Given the description of an element on the screen output the (x, y) to click on. 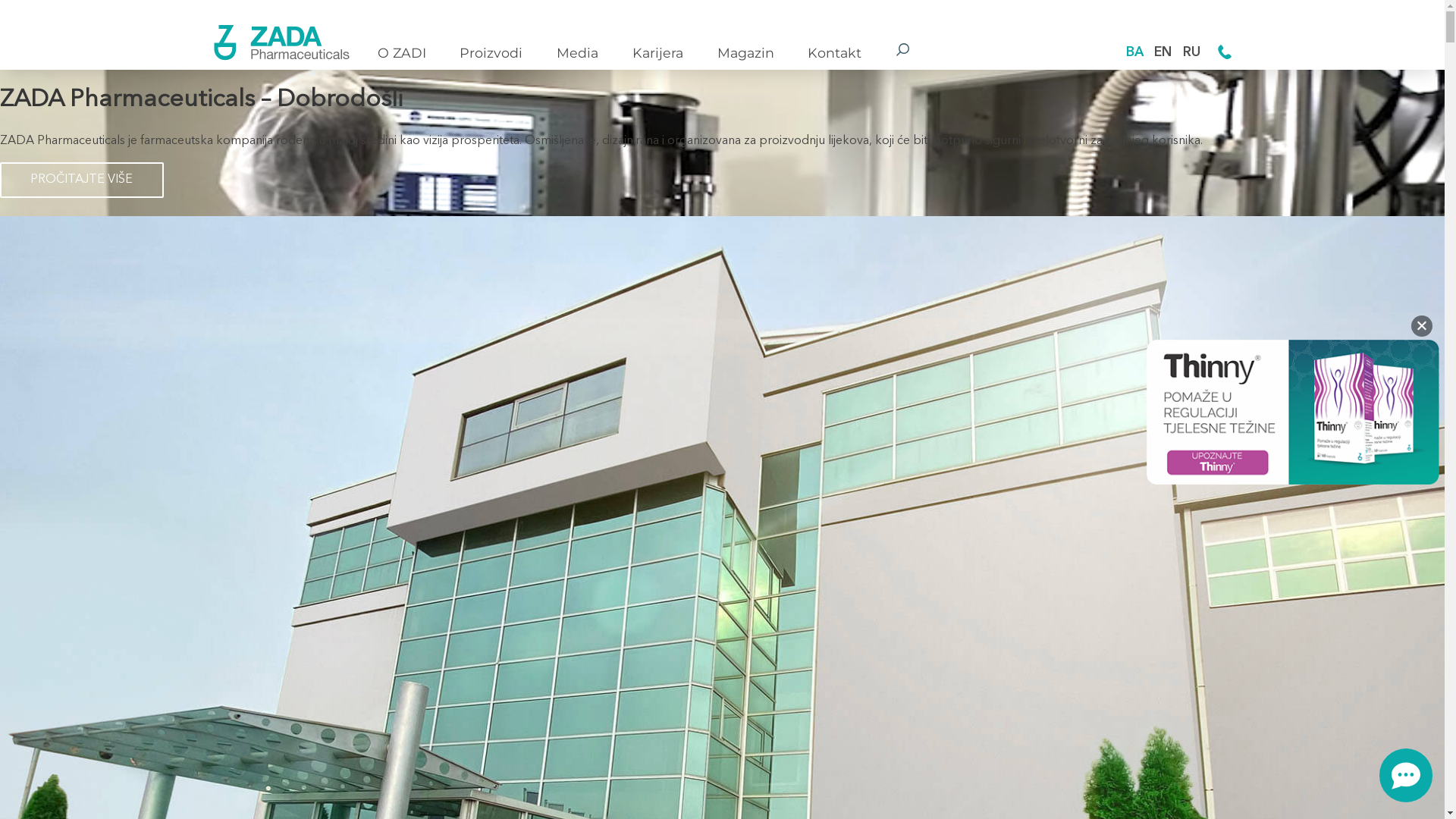
O ZADI Element type: text (401, 52)
Kontakt Element type: text (834, 52)
Magazin Element type: text (745, 52)
Karijera Element type: text (657, 52)
RU Element type: text (1191, 52)
Proizvodi Element type: text (490, 52)
BA Element type: text (1134, 52)
Media Element type: text (577, 52)
EN Element type: text (1162, 52)
